Given the description of an element on the screen output the (x, y) to click on. 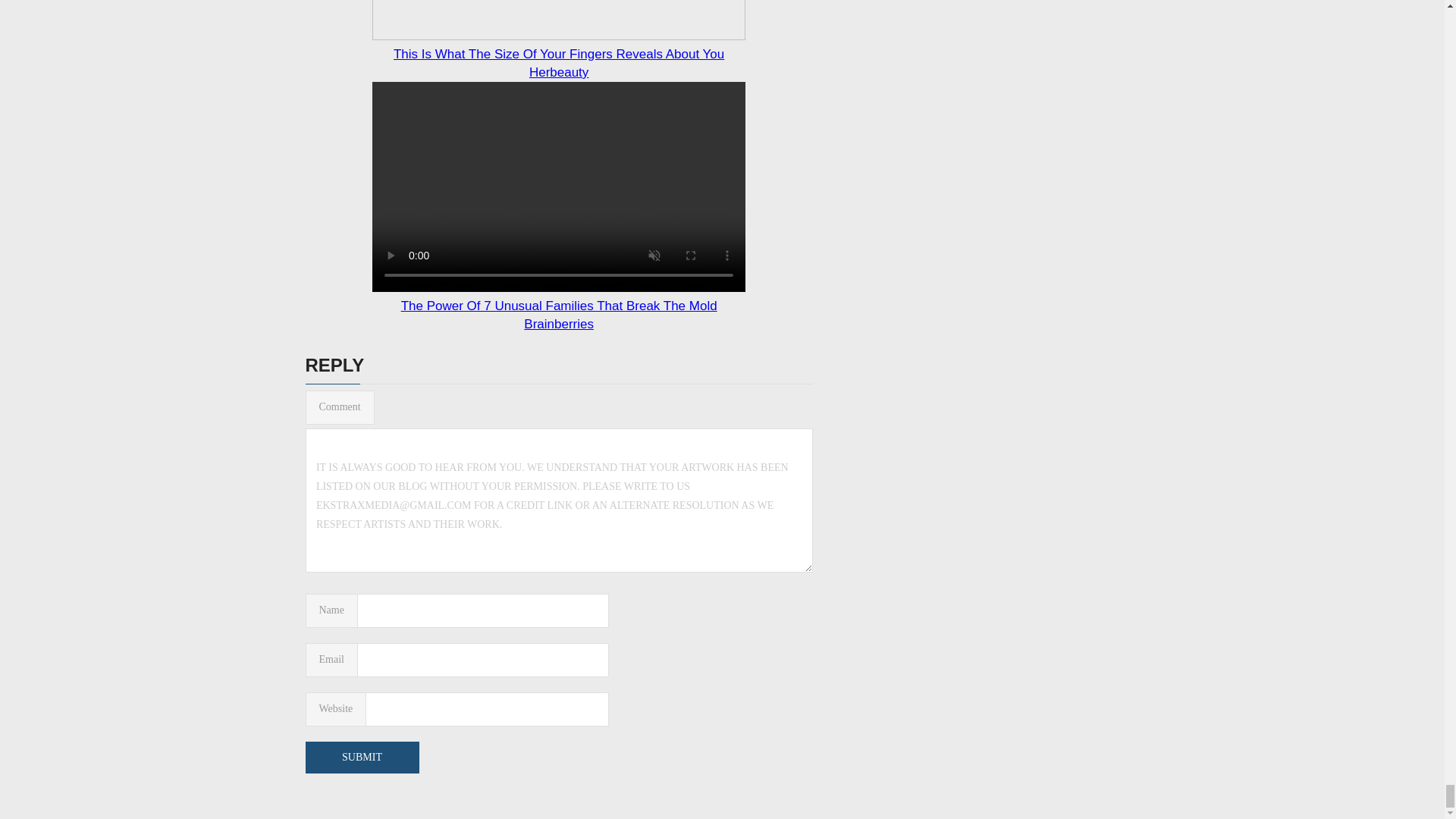
Submit (361, 757)
